Given the description of an element on the screen output the (x, y) to click on. 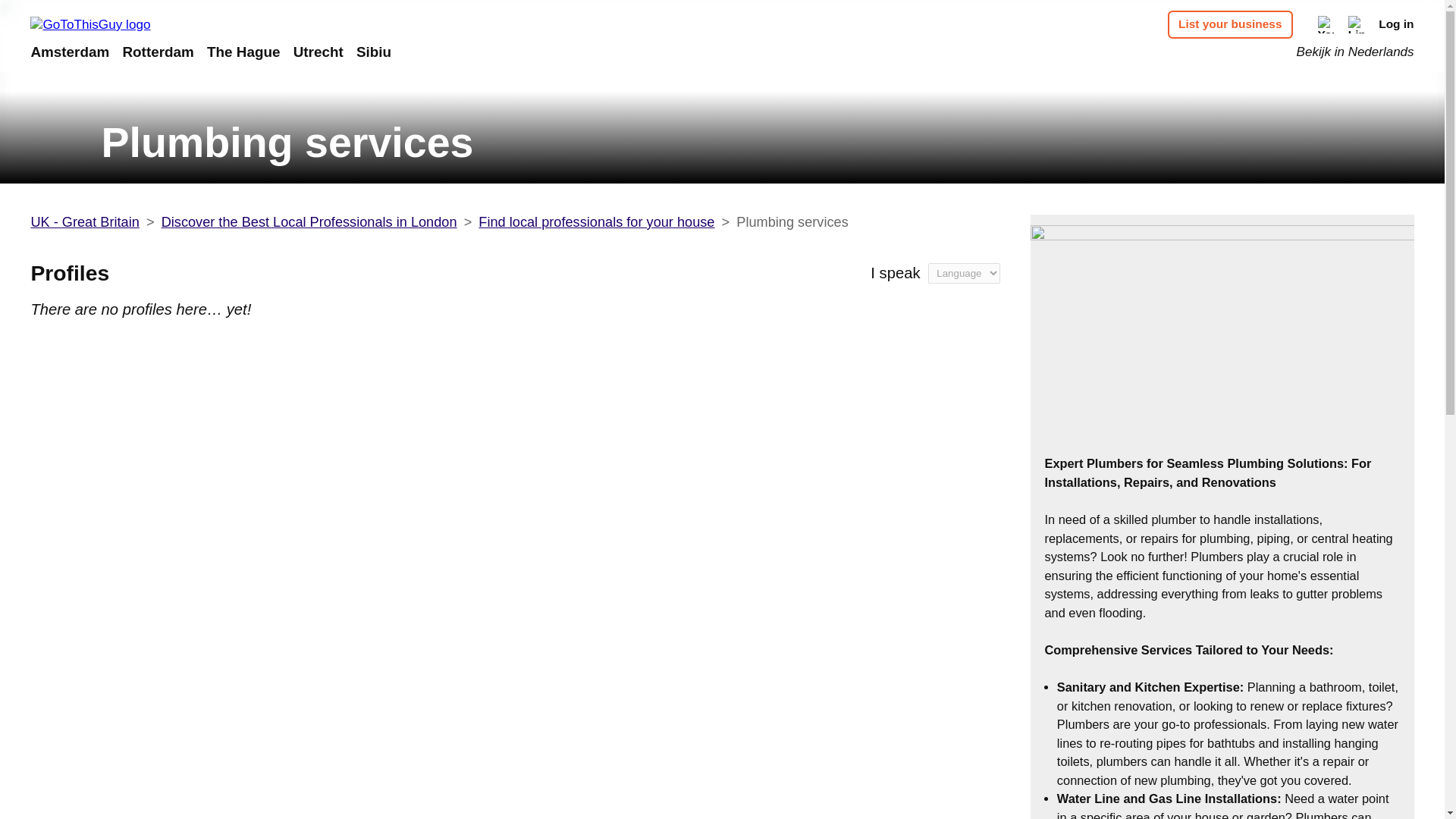
The Hague (243, 52)
Sibiu (373, 52)
List your business (1229, 24)
Amsterdam (69, 52)
Utrecht (318, 52)
Log in (1395, 24)
Rotterdam (157, 52)
Discover the Best Local Professionals in London (309, 222)
UK - Great Britain (84, 222)
Bekijk in Nederlands (1355, 52)
Find local professionals for your house (596, 222)
